Given the description of an element on the screen output the (x, y) to click on. 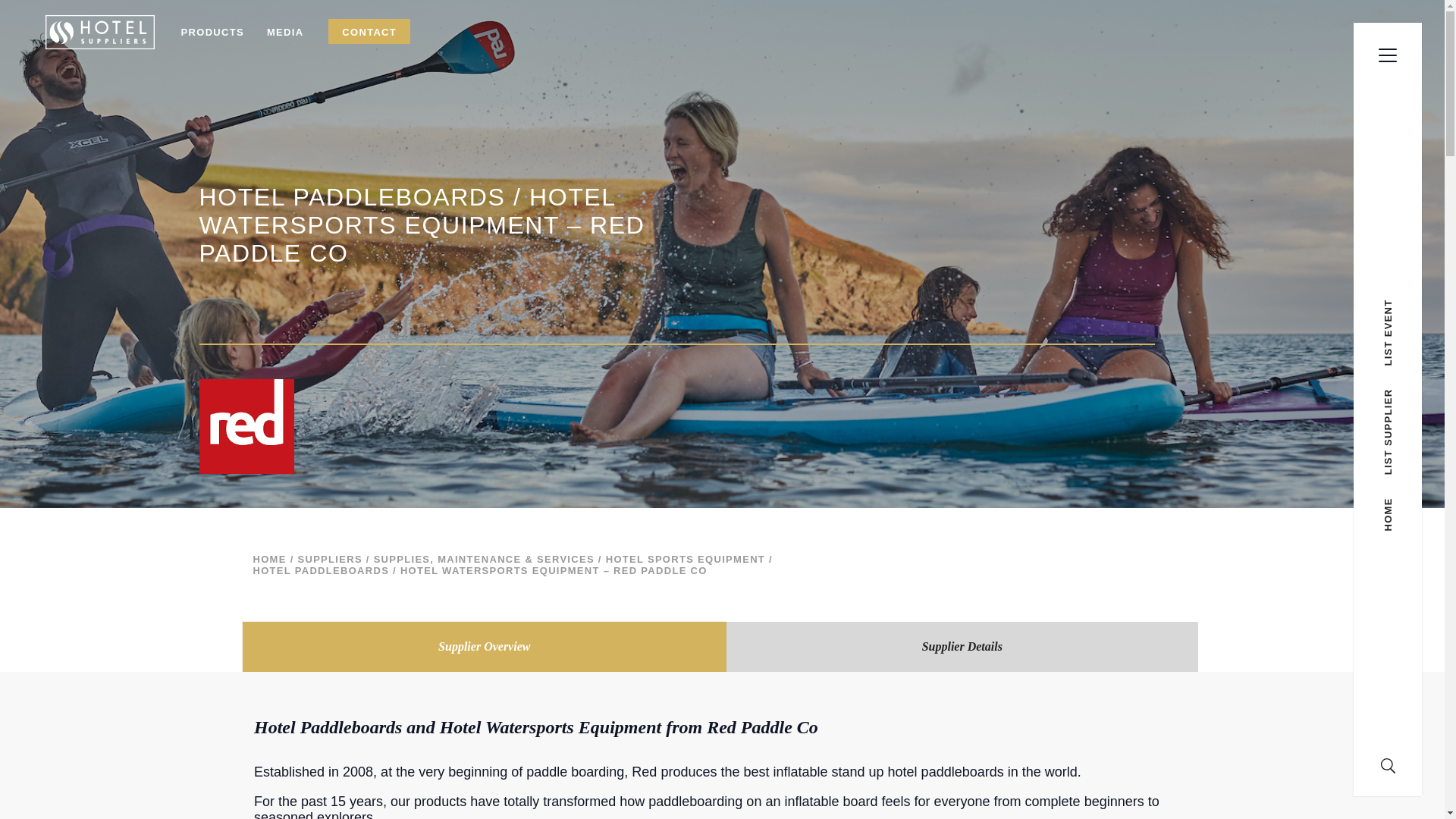
SUPPLIERS (329, 559)
MEDIA (285, 32)
HOTEL SPORTS EQUIPMENT (685, 559)
CONTACT (369, 32)
HOME (269, 559)
PRODUCTS (213, 32)
